Given the description of an element on the screen output the (x, y) to click on. 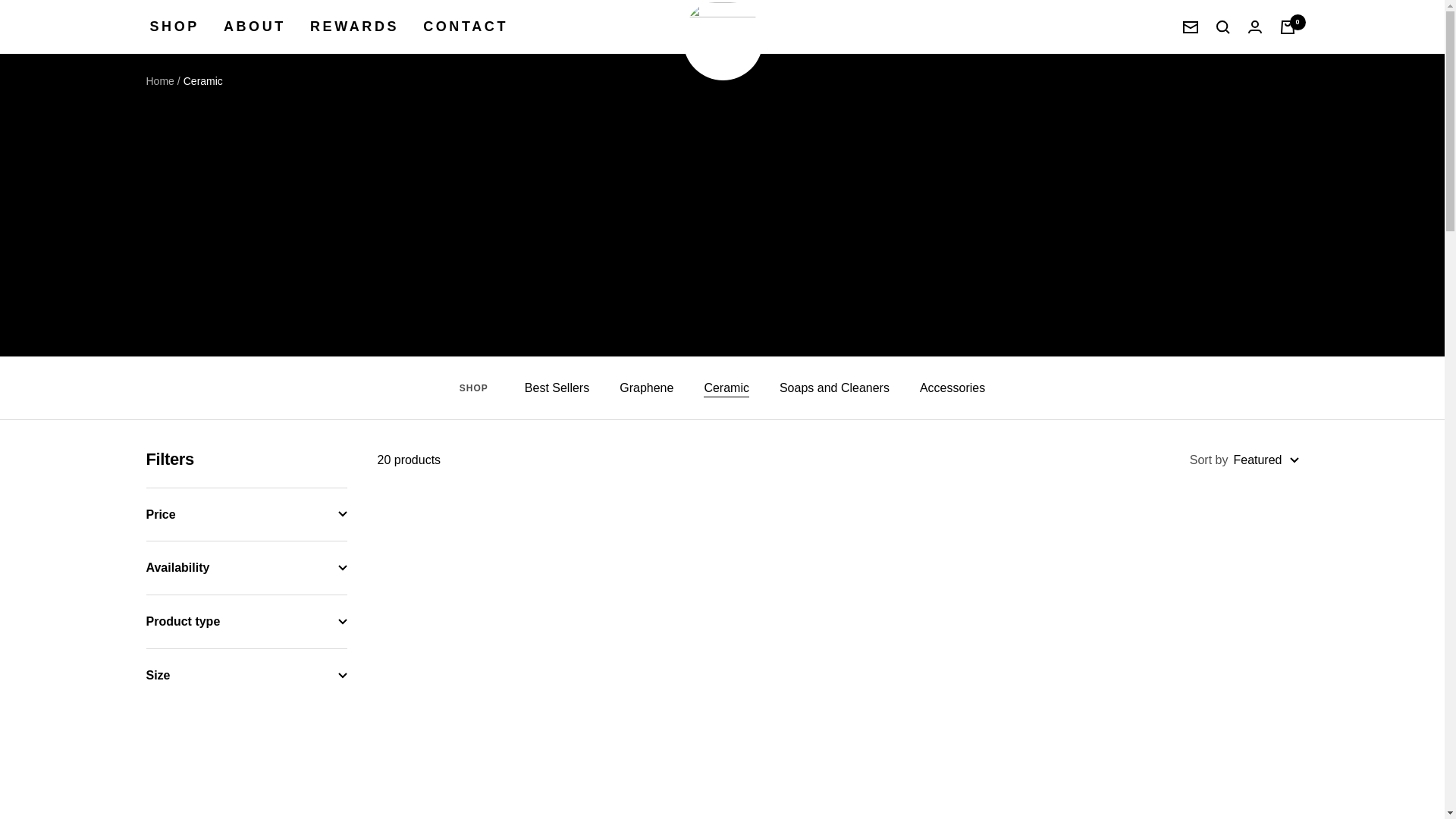
CONTACT (465, 26)
ABOUT (254, 26)
SHOP (174, 26)
0 (1287, 27)
Newsletter (1190, 27)
REWARDS (354, 26)
